Given the description of an element on the screen output the (x, y) to click on. 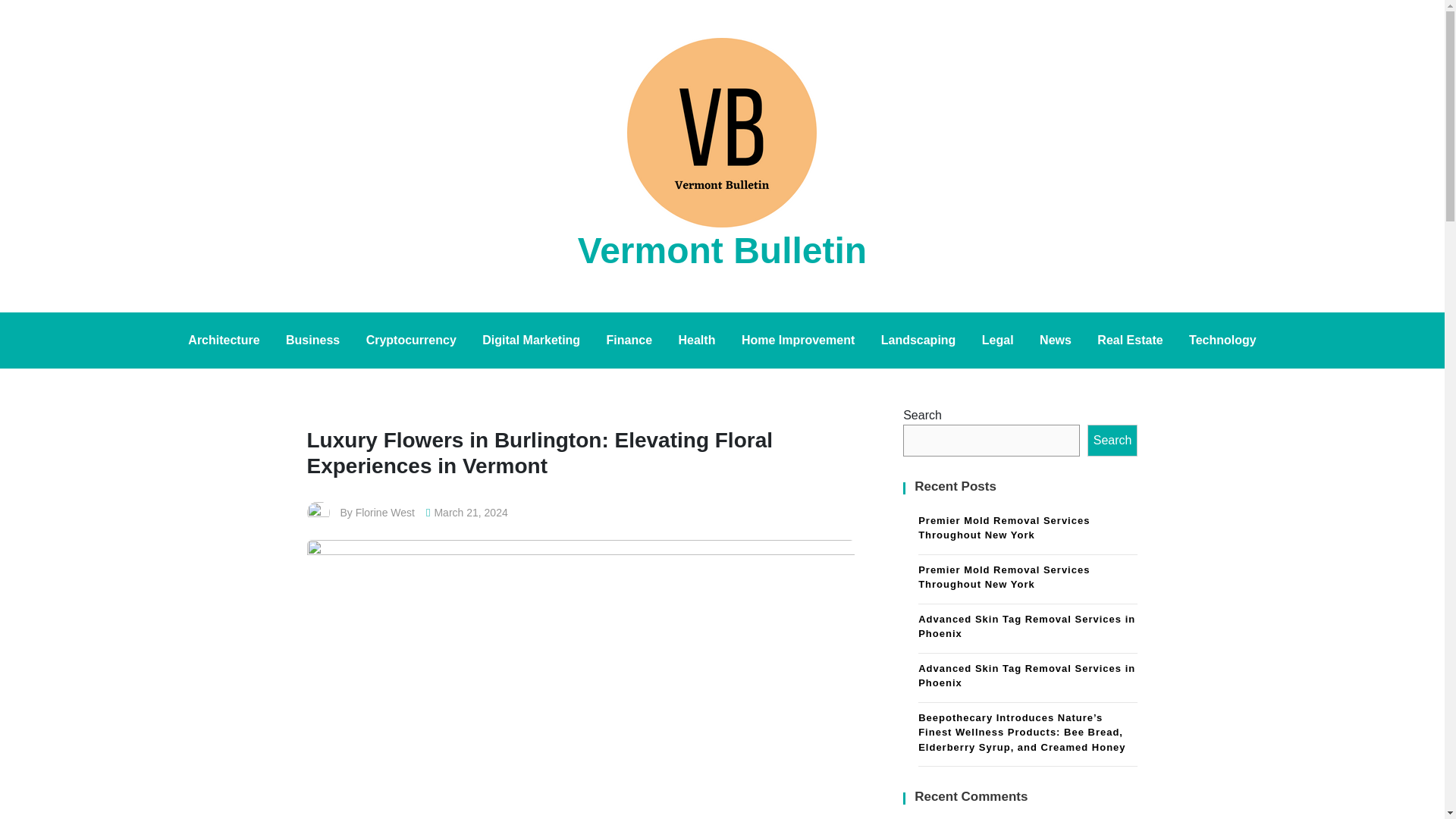
Architecture (223, 340)
Home Improvement (798, 340)
Health (696, 340)
Cryptocurrency (411, 340)
Digital Marketing (530, 340)
March 21, 2024 (469, 512)
Landscaping (918, 340)
Advanced Skin Tag Removal Services in Phoenix (1027, 628)
Premier Mold Removal Services Throughout New York (1027, 530)
Real Estate (1129, 340)
Premier Mold Removal Services Throughout New York (1027, 579)
Florine West (384, 512)
Technology (1222, 340)
Search (1112, 440)
Business (312, 340)
